Given the description of an element on the screen output the (x, y) to click on. 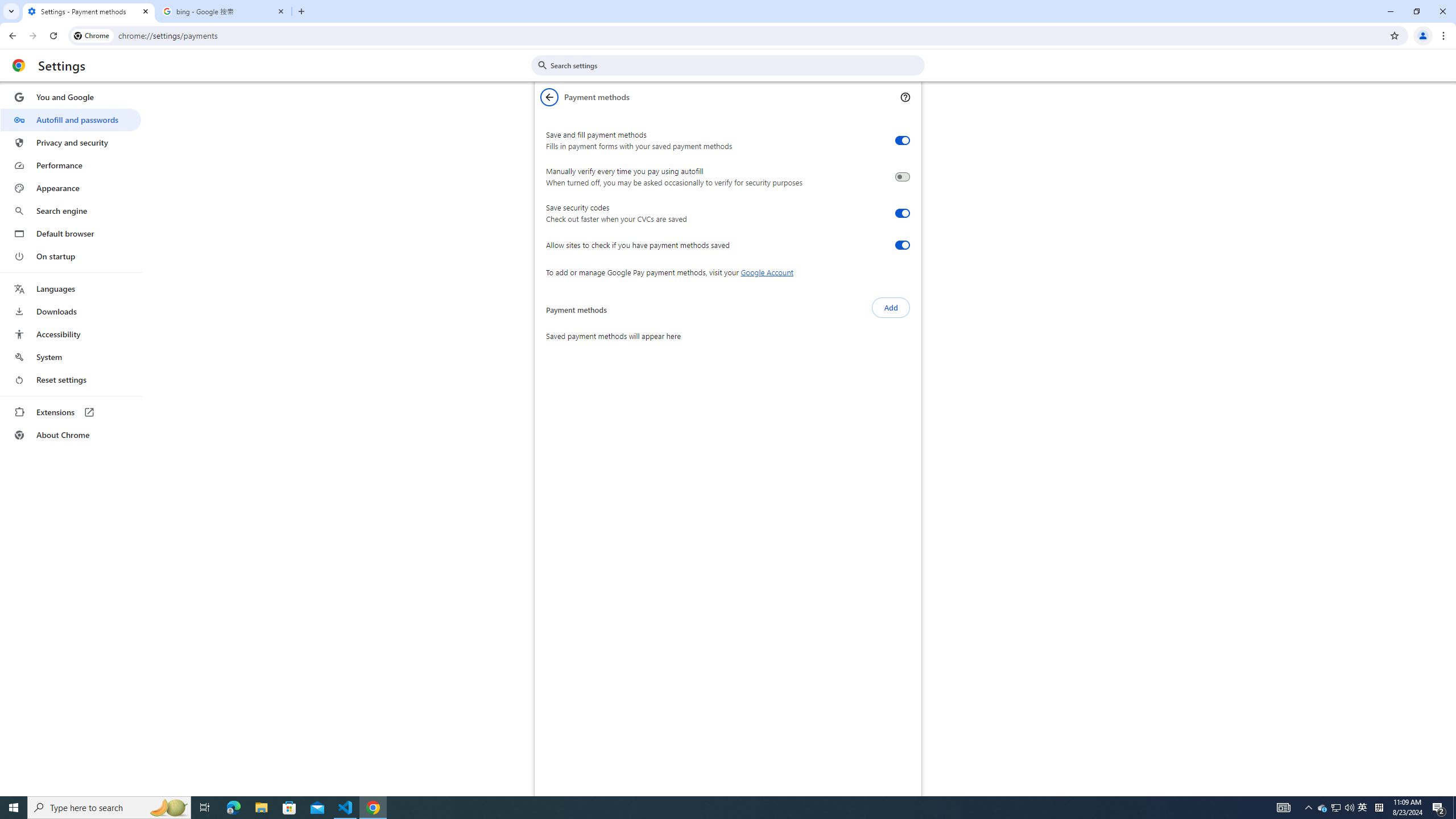
Appearance (70, 187)
On startup (70, 255)
Autofill and passwords (70, 119)
Downloads (70, 311)
AutomationID: menu (71, 265)
Performance (70, 164)
About Chrome (70, 434)
